Given the description of an element on the screen output the (x, y) to click on. 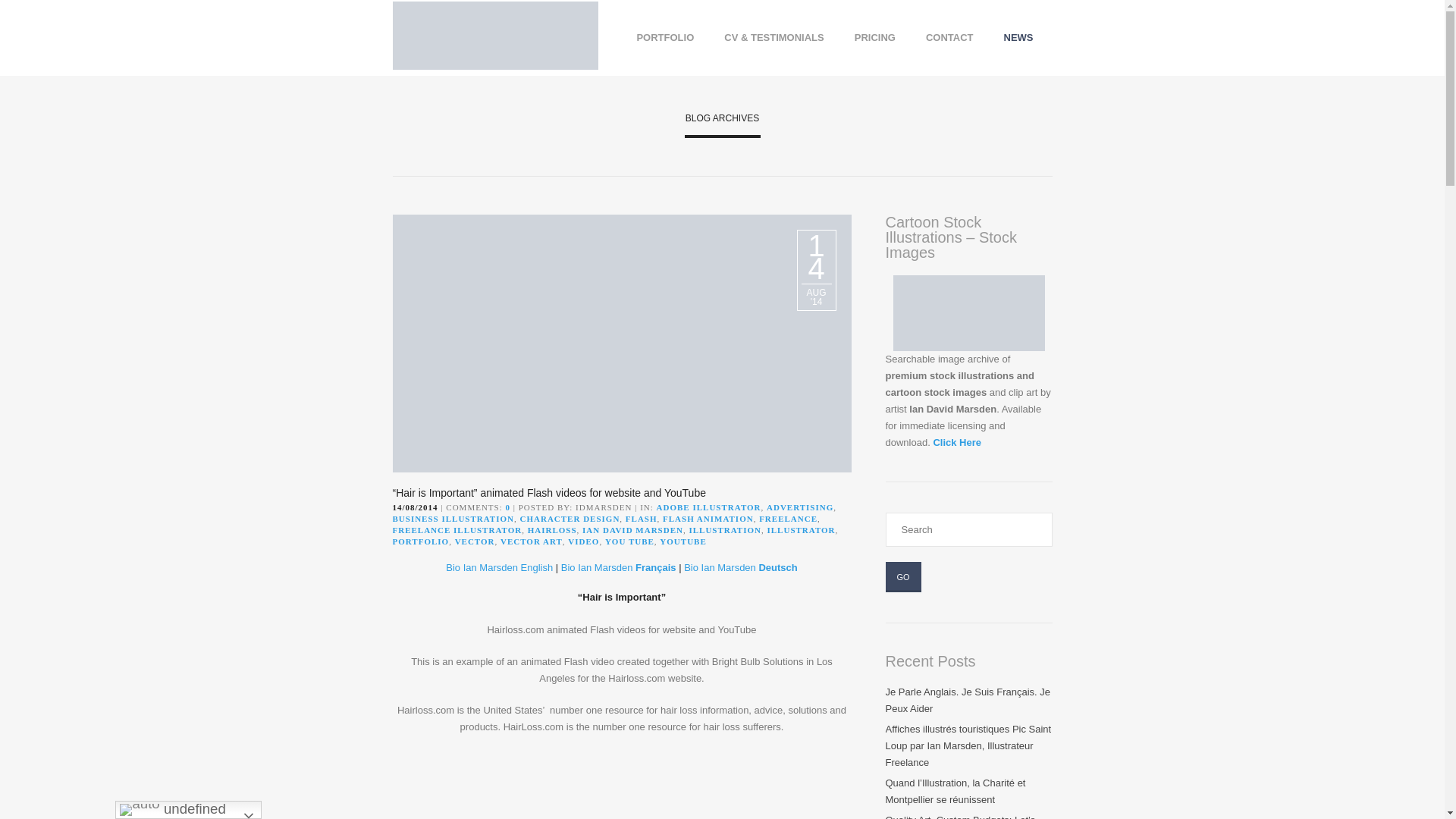
IAN DAVID MARSDEN (632, 529)
ILLUSTRATOR (800, 529)
FREELANCE ILLUSTRATOR (457, 529)
ADOBE ILLUSTRATOR (708, 506)
ILLUSTRATION (724, 529)
FLASH (642, 518)
Marsden Illustration (495, 38)
PORTFOLIO (664, 37)
CONTACT (949, 37)
BUSINESS ILLUSTRATION (454, 518)
ADVERTISING (799, 506)
FREELANCE (787, 518)
HAIRLOSS (551, 529)
PRICING (875, 37)
NEWS (1017, 37)
